Given the description of an element on the screen output the (x, y) to click on. 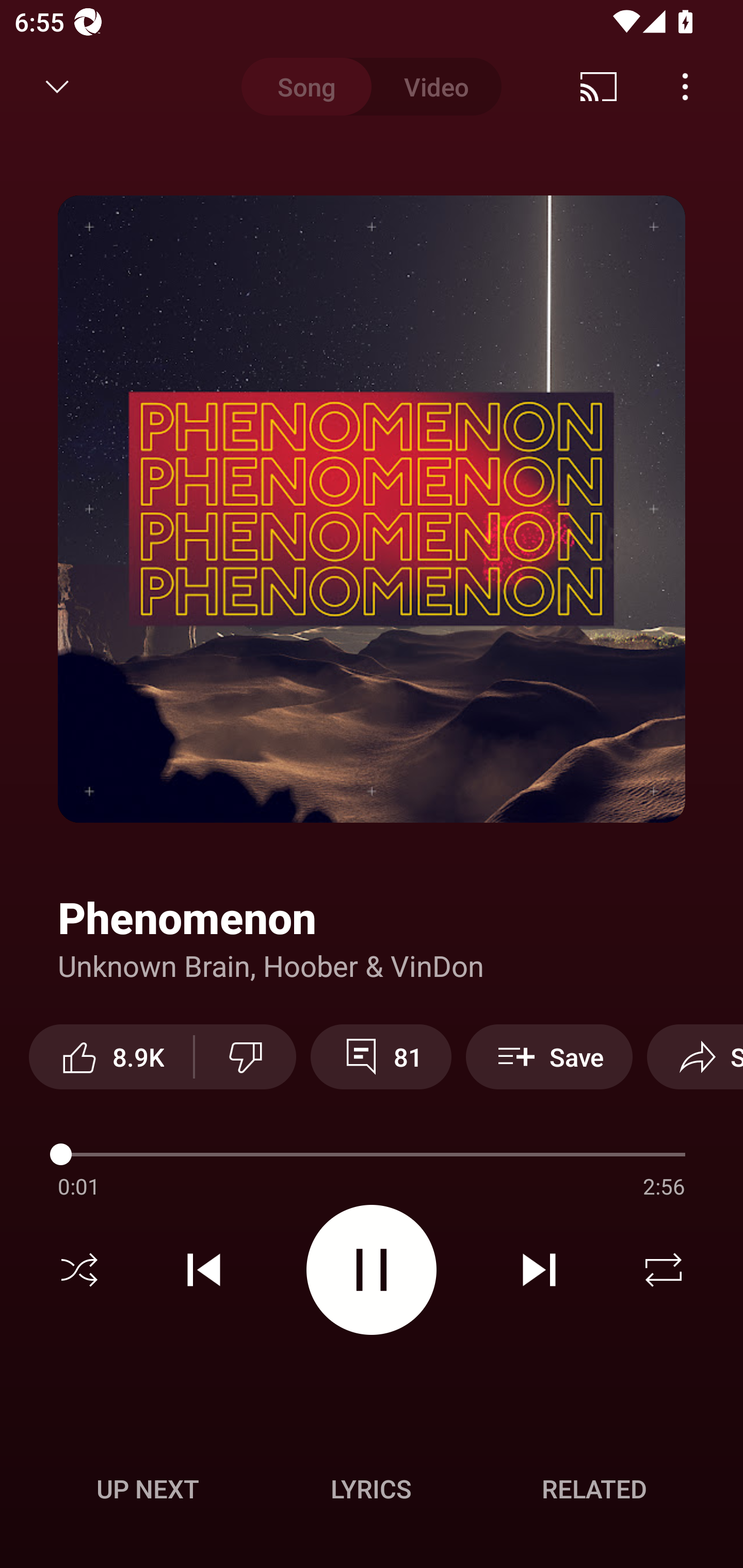
Minimize (57, 86)
Cast. Disconnected (598, 86)
Menu (684, 86)
8.9K like this video along with 8,972 other people (110, 1056)
Dislike (245, 1056)
81 View 81 comments (380, 1056)
Save Save to playlist (548, 1056)
Share (695, 1056)
Pause video (371, 1269)
Shuffle off (79, 1269)
Previous track (203, 1269)
Next track (538, 1269)
Repeat off (663, 1269)
Up next UP NEXT Lyrics LYRICS Related RELATED (371, 1491)
Lyrics LYRICS (370, 1488)
Related RELATED (594, 1488)
